Given the description of an element on the screen output the (x, y) to click on. 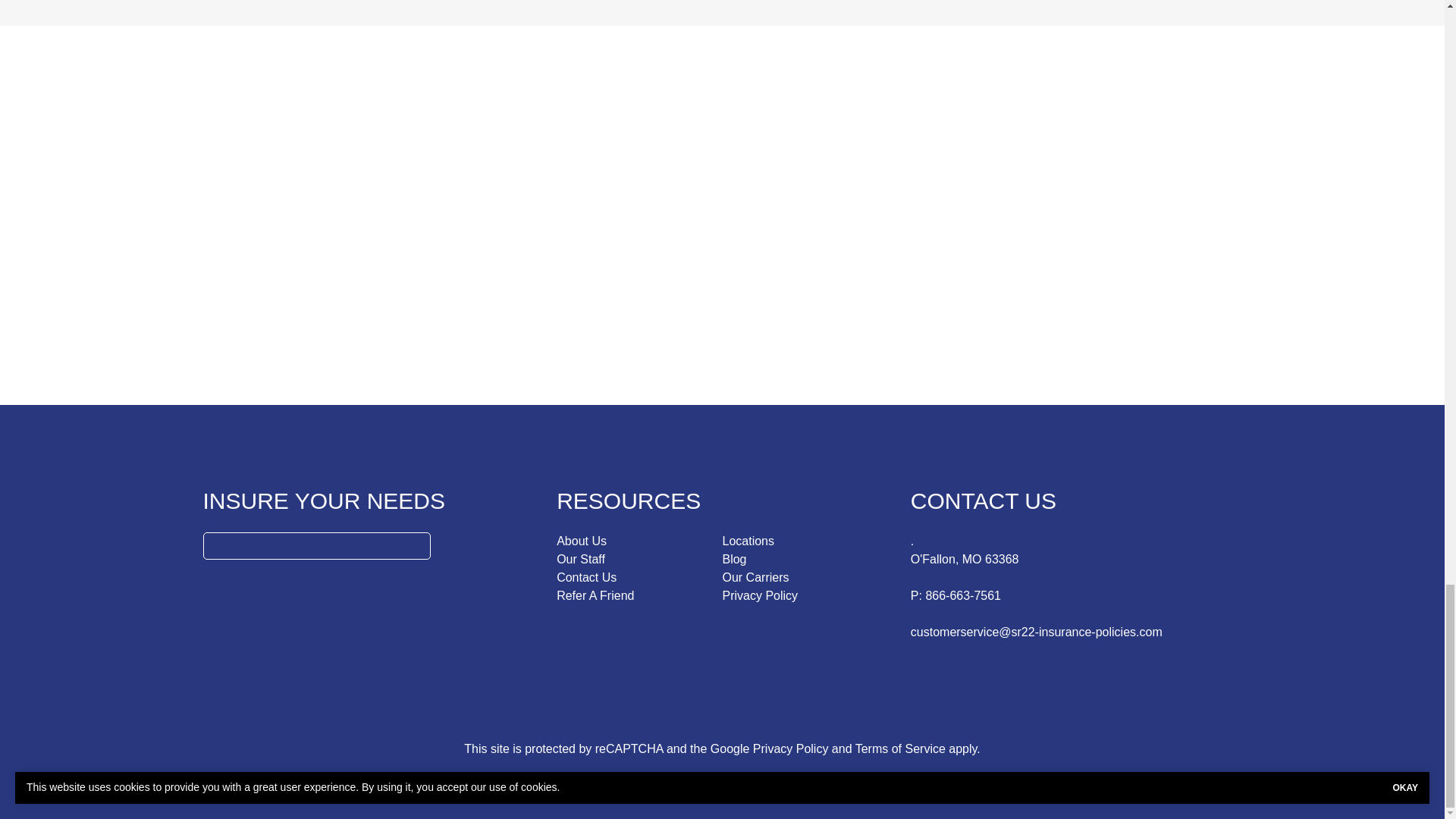
Search (416, 545)
Insurance Website Builder (831, 779)
